Given the description of an element on the screen output the (x, y) to click on. 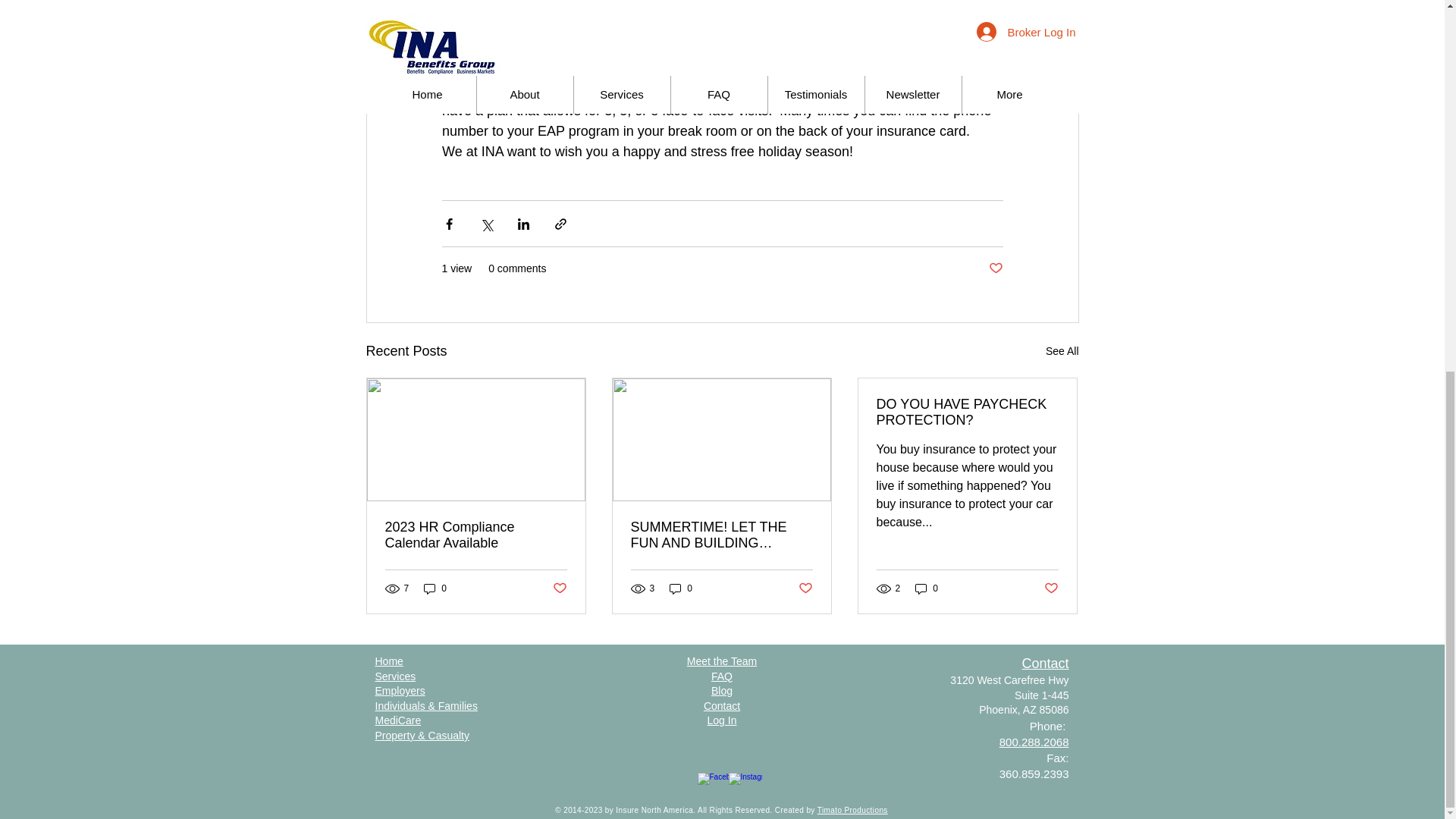
Post not marked as liked (558, 588)
Post not marked as liked (804, 588)
2023 HR Compliance Calendar Available (476, 535)
DO YOU HAVE PAYCHECK PROTECTION? (967, 412)
Post not marked as liked (995, 268)
0 (926, 587)
Home (388, 661)
Post not marked as liked (1050, 588)
See All (1061, 351)
SUMMERTIME! LET THE FUN AND BUILDING MEMORIES BEGIN! (721, 535)
